Given the description of an element on the screen output the (x, y) to click on. 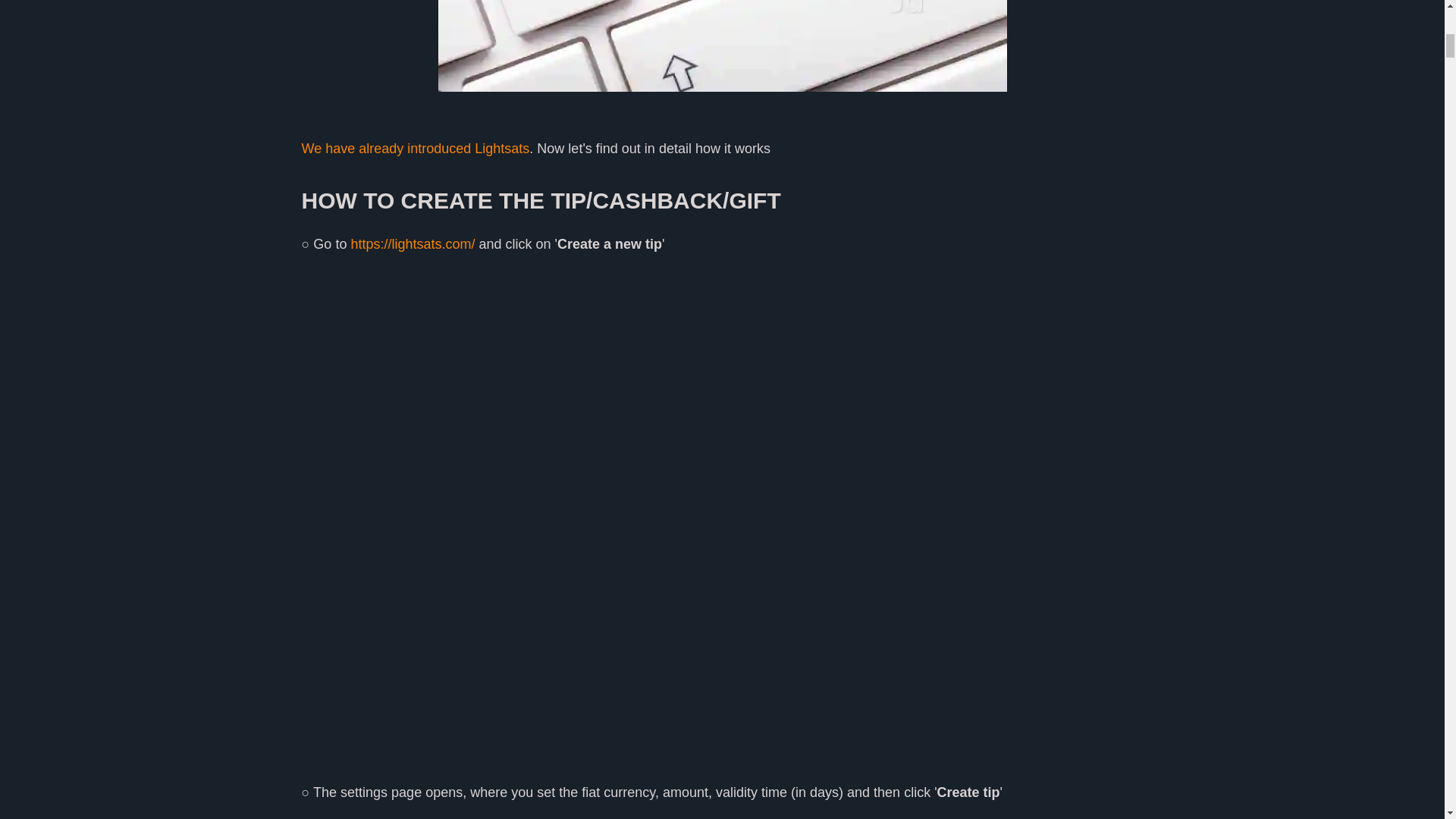
We have already introduced Lightsats (415, 148)
